Given the description of an element on the screen output the (x, y) to click on. 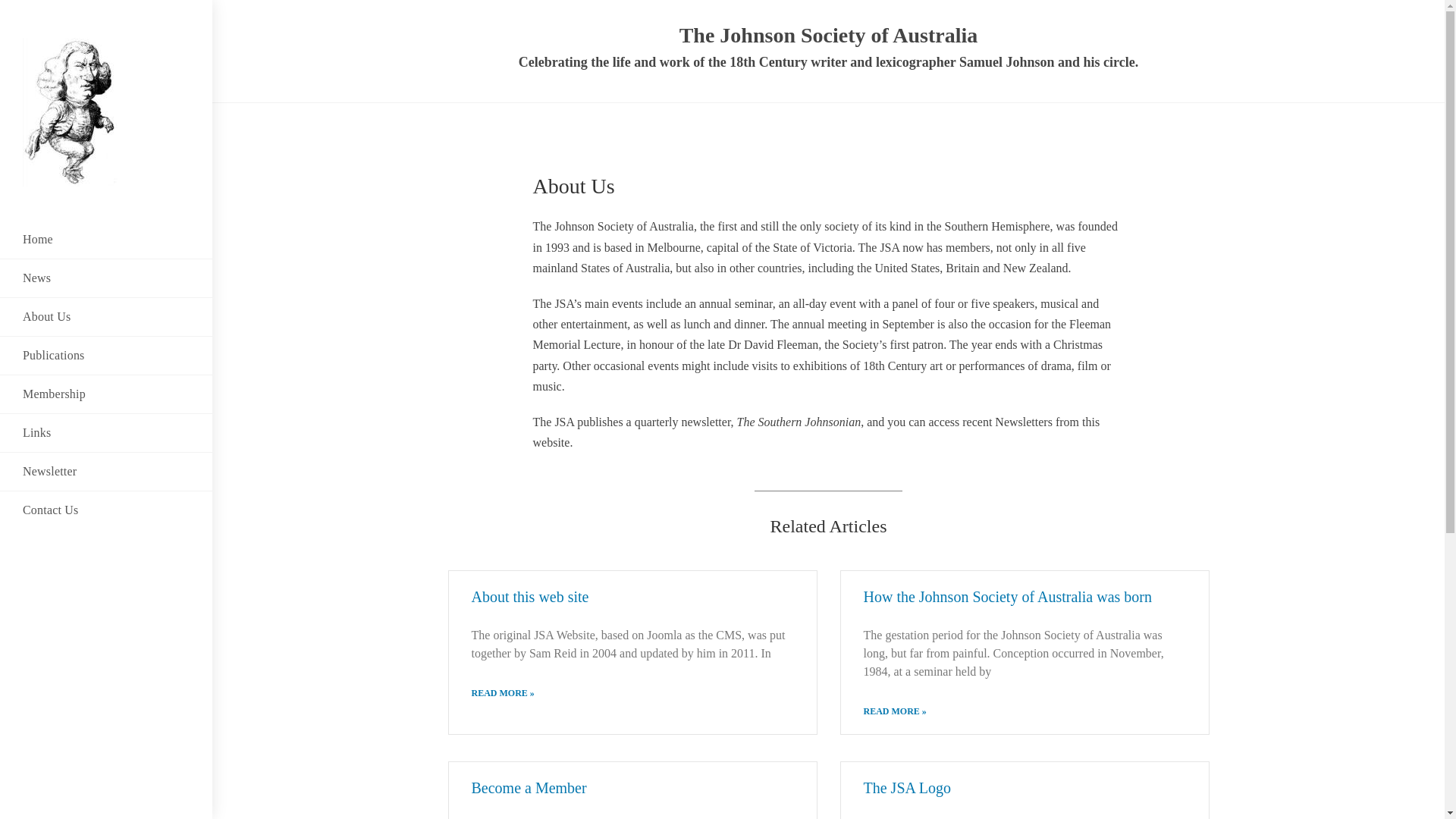
Newsletter Element type: text (106, 471)
Home Element type: text (106, 239)
Membership Element type: text (106, 394)
The JSA Logo Element type: text (906, 787)
How the Johnson Society of Australia was born Element type: text (1006, 596)
Become a Member Element type: text (528, 787)
News Element type: text (106, 278)
Publications Element type: text (106, 355)
About Us Element type: text (106, 316)
Contact Us Element type: text (106, 510)
About this web site Element type: text (530, 596)
Links Element type: text (106, 432)
